Given the description of an element on the screen output the (x, y) to click on. 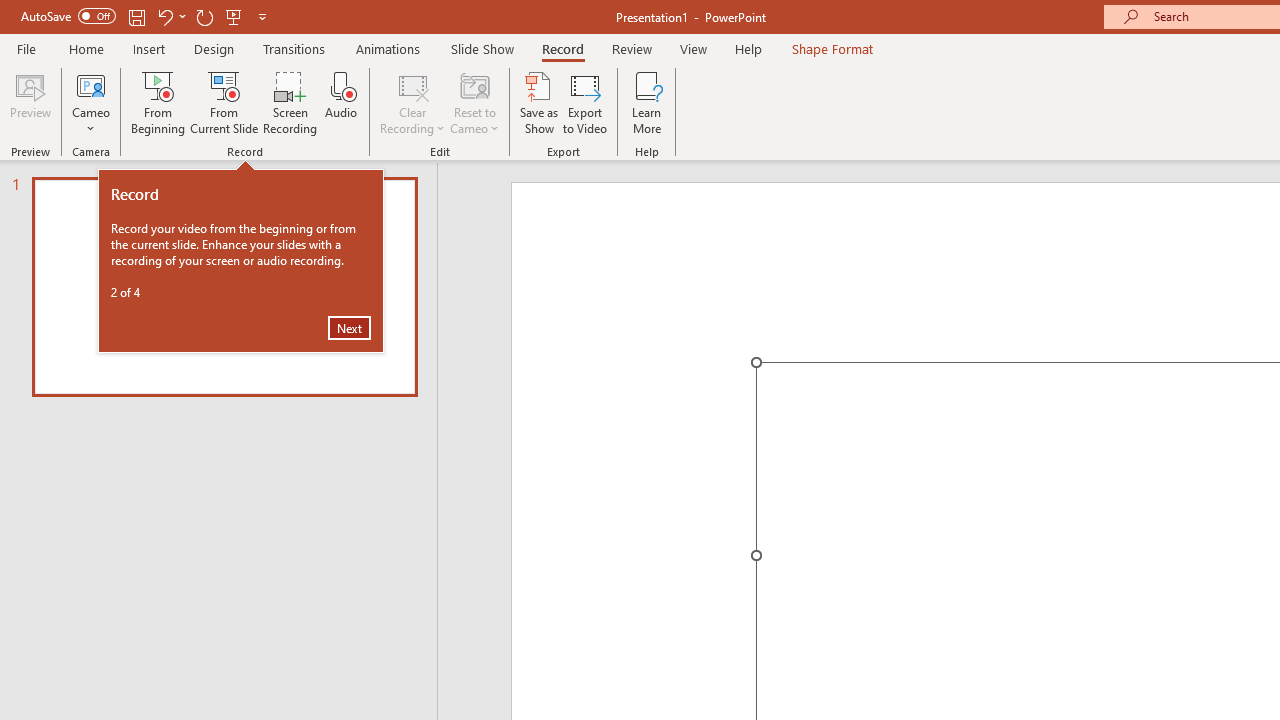
Next (349, 327)
